Given the description of an element on the screen output the (x, y) to click on. 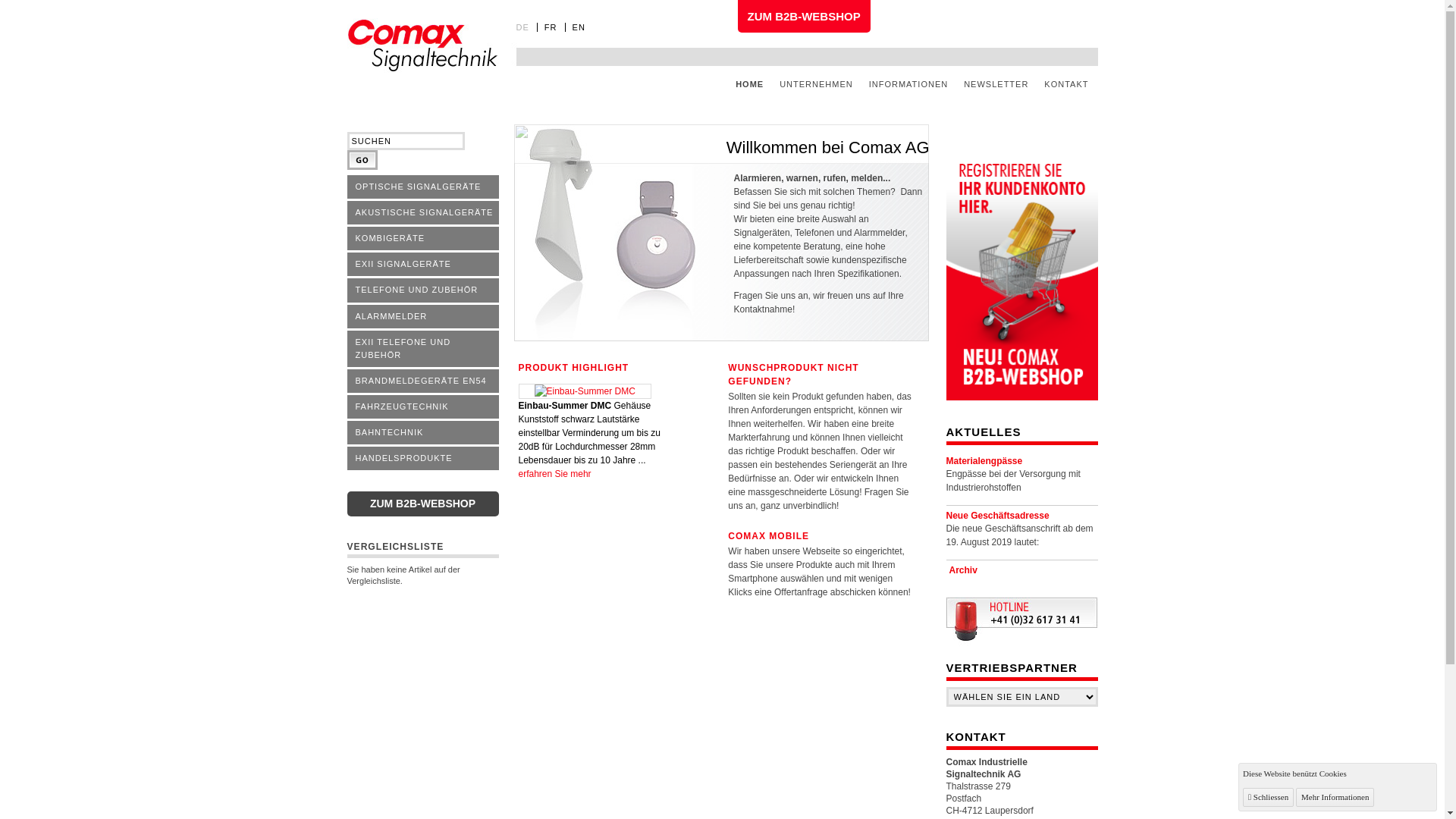
ZUM B2B-WEBSHOP Element type: text (422, 503)
KONTAKT Element type: text (1066, 83)
EN Element type: text (582, 26)
HOME Element type: text (749, 83)
INFORMATIONEN Element type: text (908, 83)
BAHNTECHNIK Element type: text (422, 433)
HANDELSPRODUKTE Element type: text (422, 459)
Archiv Element type: text (963, 569)
erfahren Sie mehr Element type: text (554, 473)
UNTERNEHMEN Element type: text (816, 83)
ALARMMELDER Element type: text (422, 317)
Schliessen Element type: text (1267, 796)
ZUM B2B-WEBSHOP Element type: text (803, 16)
Einbau-Summer DMC Element type: hover (584, 390)
Mehr Informationen Element type: text (1334, 796)
NEWSLETTER Element type: text (995, 83)
DE Element type: text (525, 26)
FR Element type: text (554, 26)
FAHRZEUGTECHNIK Element type: text (422, 407)
